Given the description of an element on the screen output the (x, y) to click on. 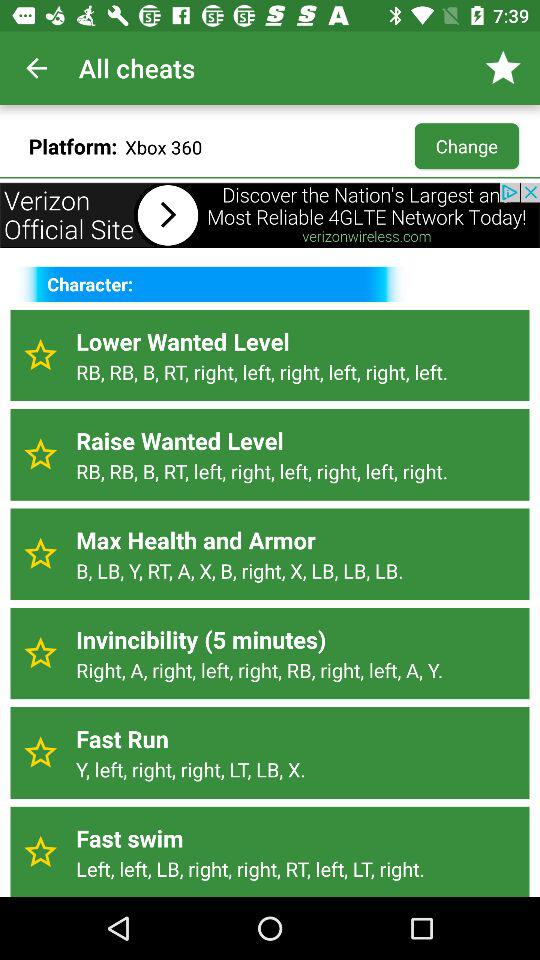
toggle to favorite (40, 454)
